Given the description of an element on the screen output the (x, y) to click on. 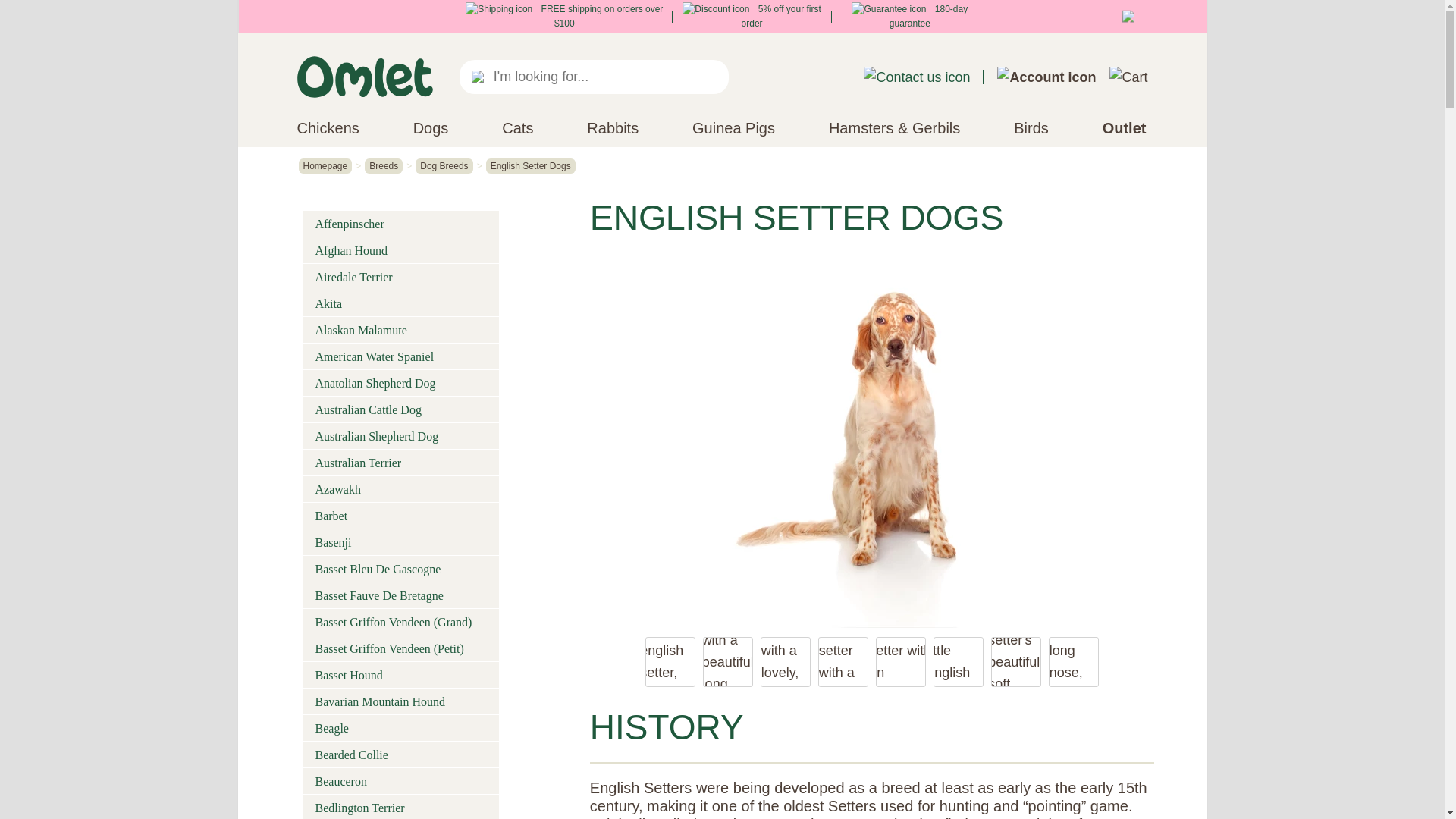
Contact us (916, 77)
Shipping (498, 9)
180-day guarantee (909, 16)
Cart (1128, 77)
Guarantee icon (888, 9)
United States (1131, 17)
Discount icon (715, 9)
Chickens (328, 127)
Omlet (364, 76)
Account (1046, 77)
